Given the description of an element on the screen output the (x, y) to click on. 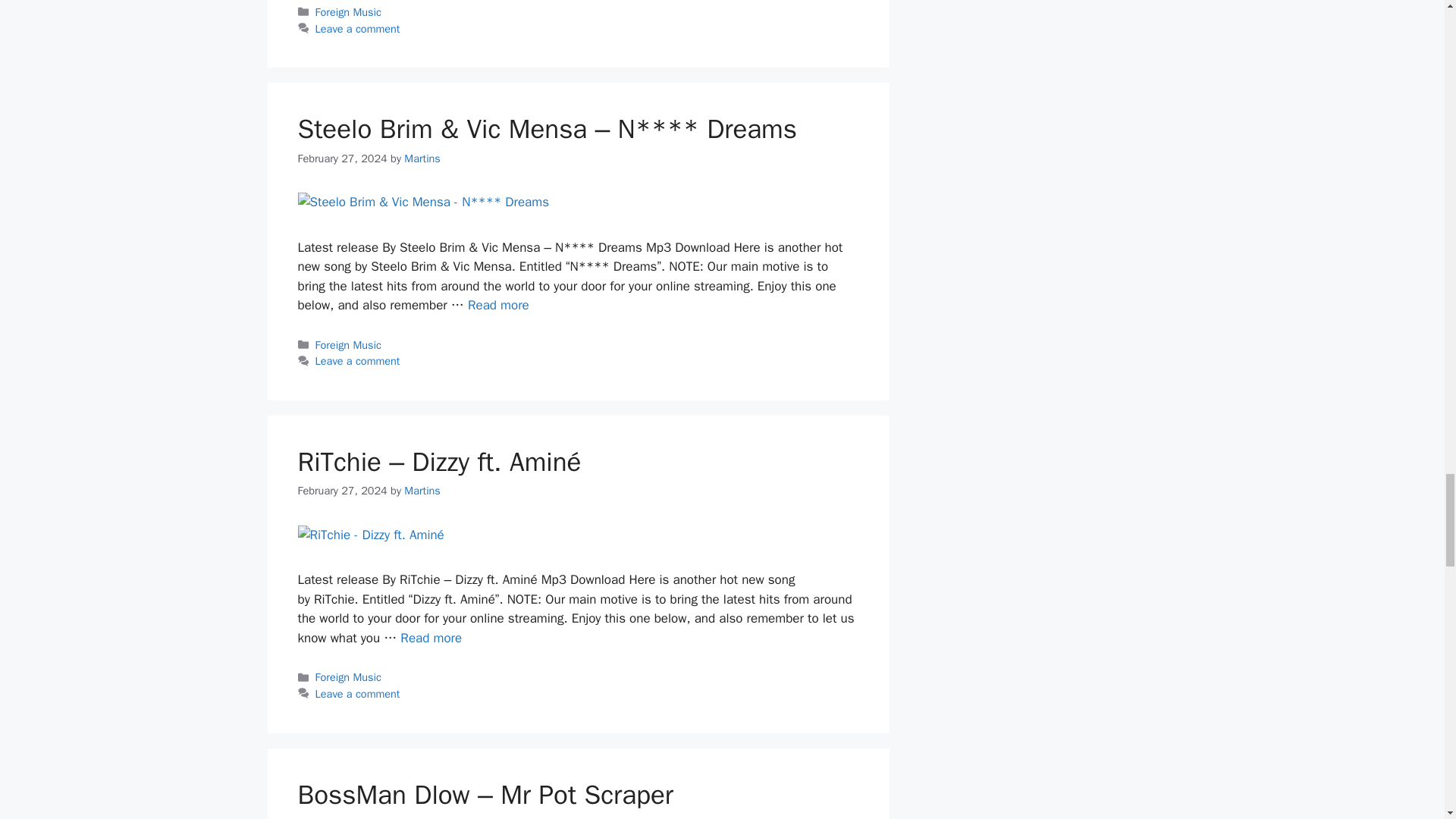
View all posts by Martins (422, 158)
View all posts by Martins (422, 490)
